Given the description of an element on the screen output the (x, y) to click on. 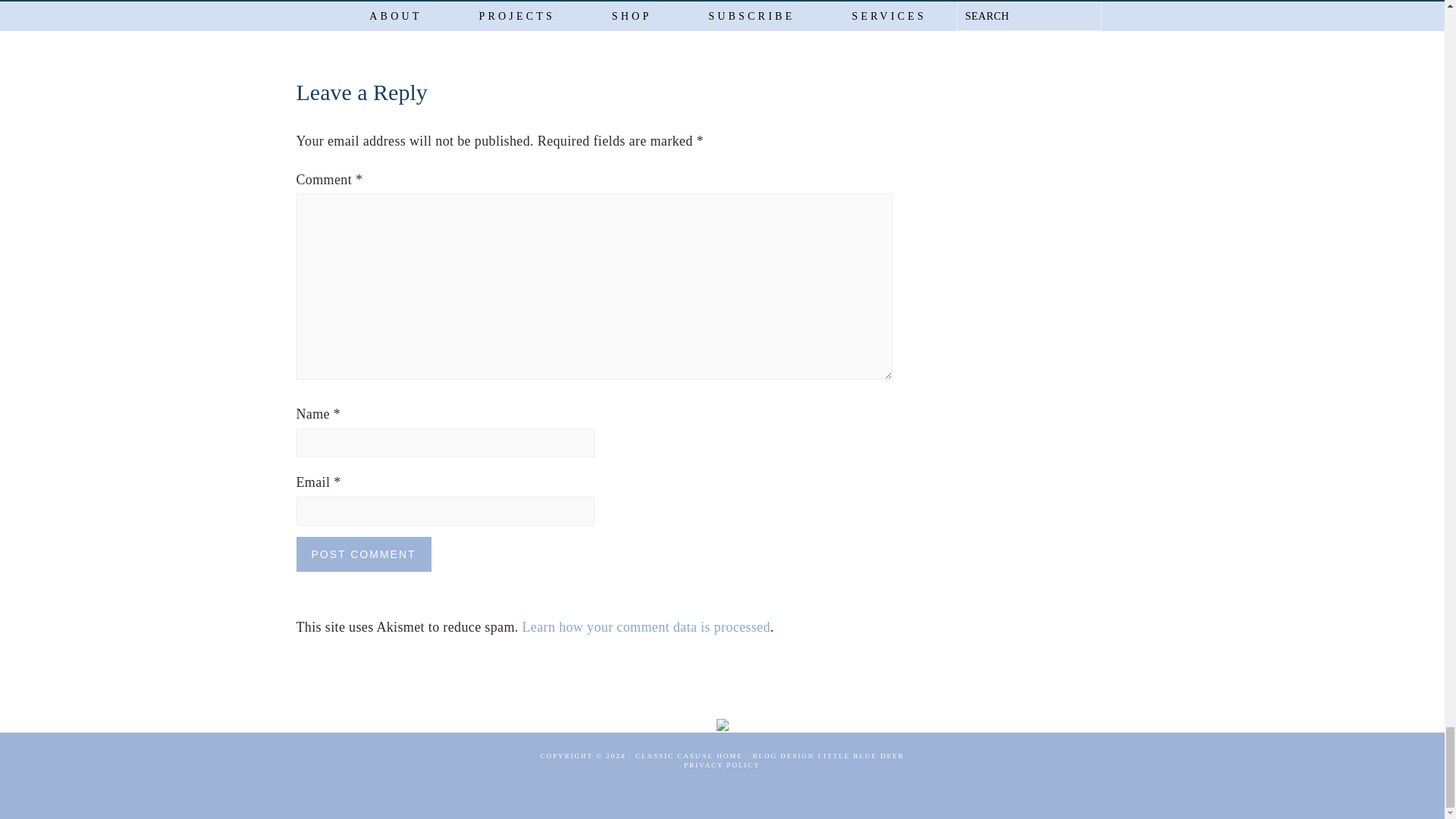
Post Comment (362, 554)
